Given the description of an element on the screen output the (x, y) to click on. 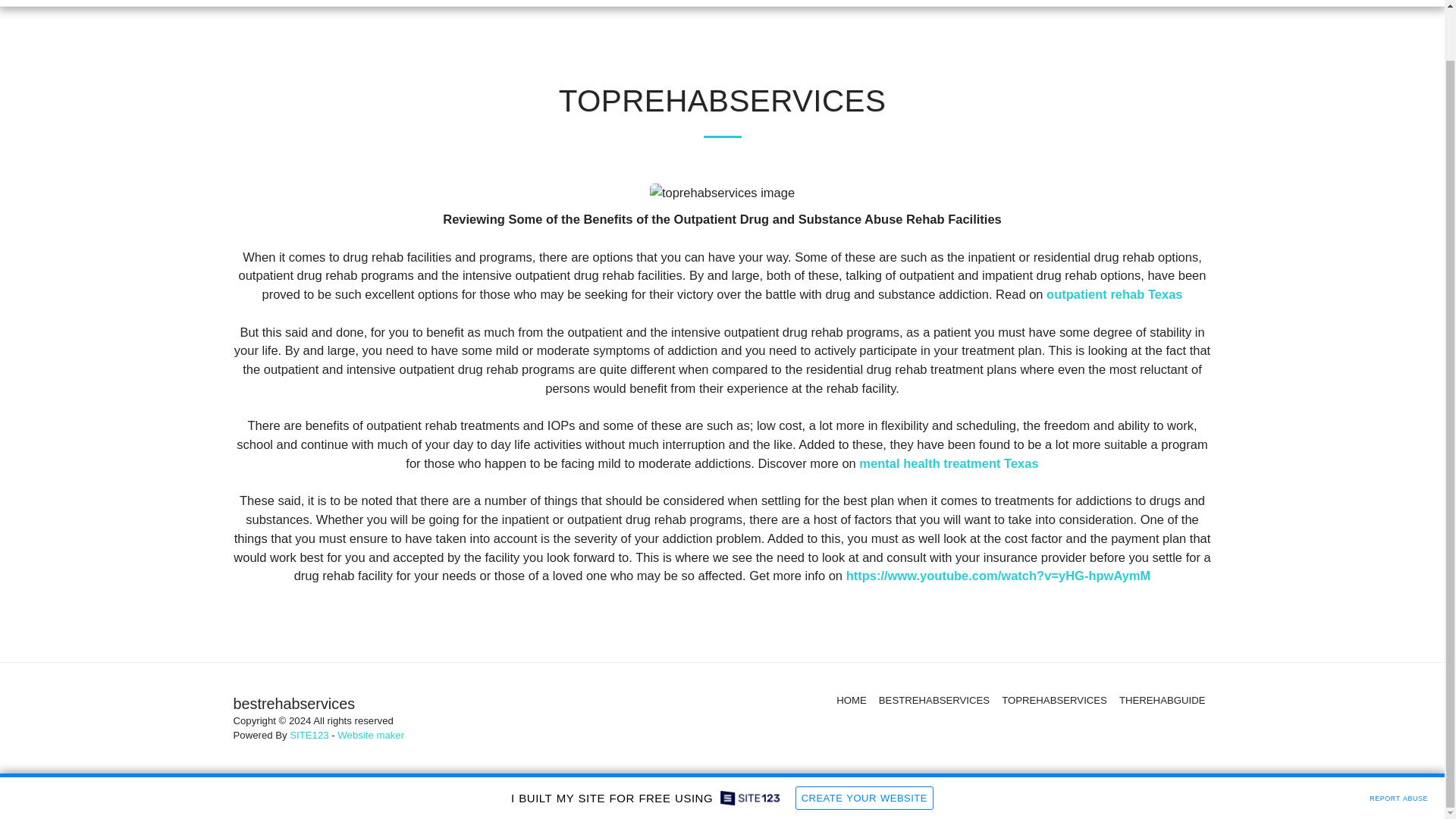
HOME (850, 700)
outpatient rehab Texas (1114, 294)
SITE123 (309, 735)
bestrehabservices (113, 3)
BESTREHABSERVICES (934, 700)
REPORT ABUSE (1398, 742)
THEREHABGUIDE (1162, 700)
Website maker (370, 735)
mental health treatment Texas (948, 463)
TOPREHABSERVICES (1053, 700)
